Given the description of an element on the screen output the (x, y) to click on. 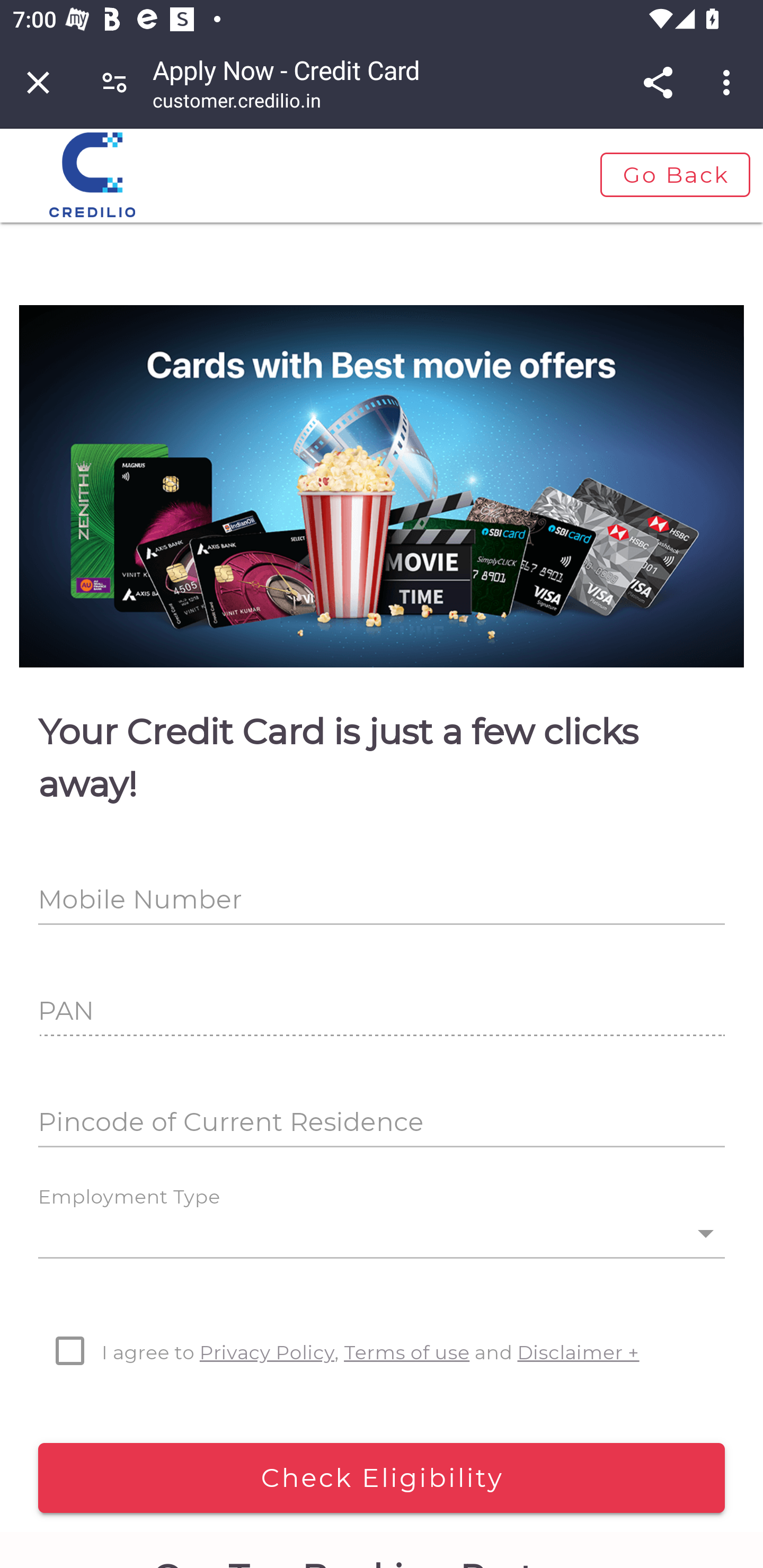
Close tab (38, 82)
Share (657, 82)
Customize and control Google Chrome (729, 82)
Connection is secure (114, 81)
customer.credilio.in (236, 103)
Go Back (674, 174)
Privacy Policy (266, 1352)
Terms of use (406, 1352)
Check Eligibility (381, 1477)
